Given the description of an element on the screen output the (x, y) to click on. 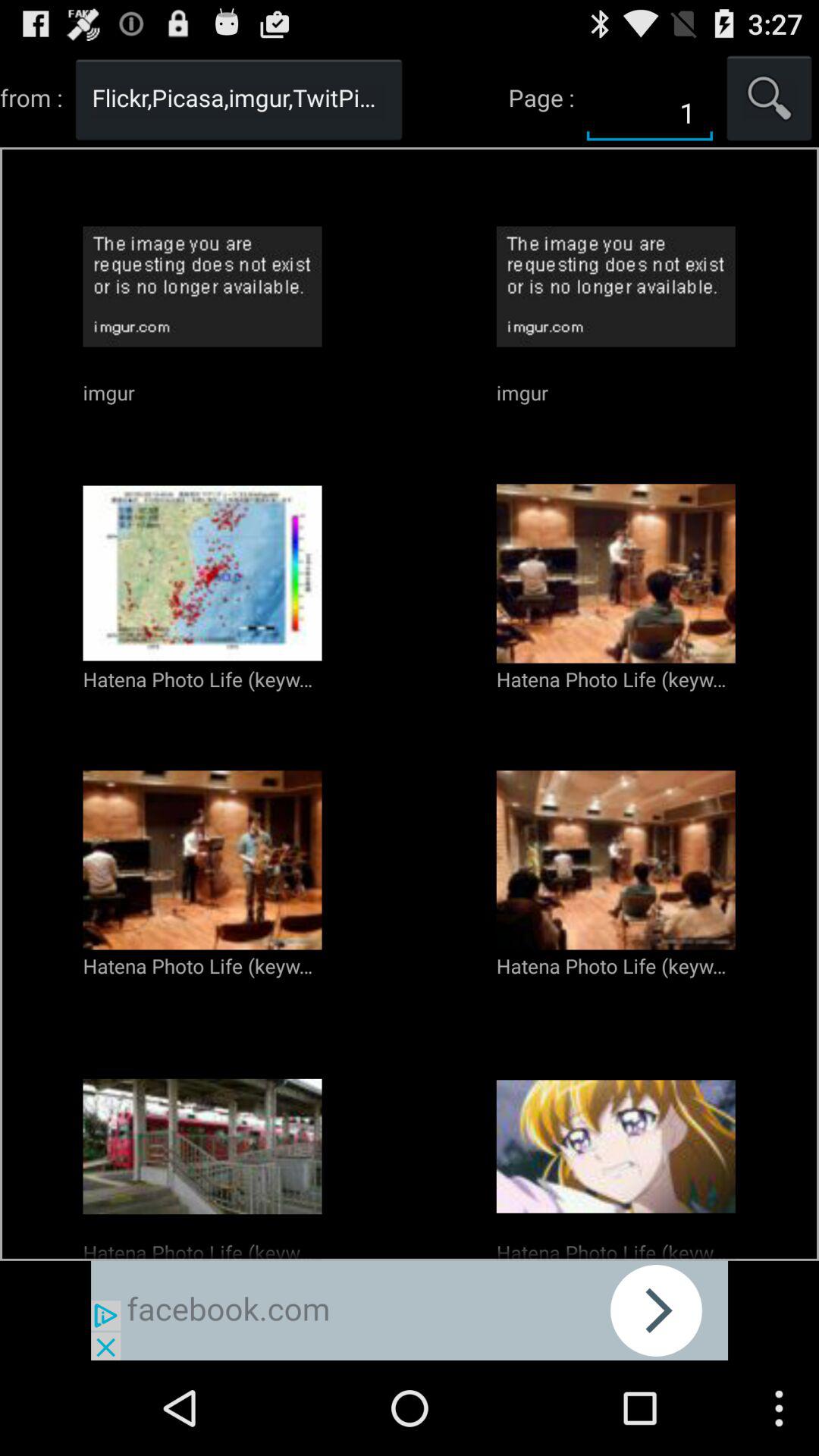
search (769, 97)
